Given the description of an element on the screen output the (x, y) to click on. 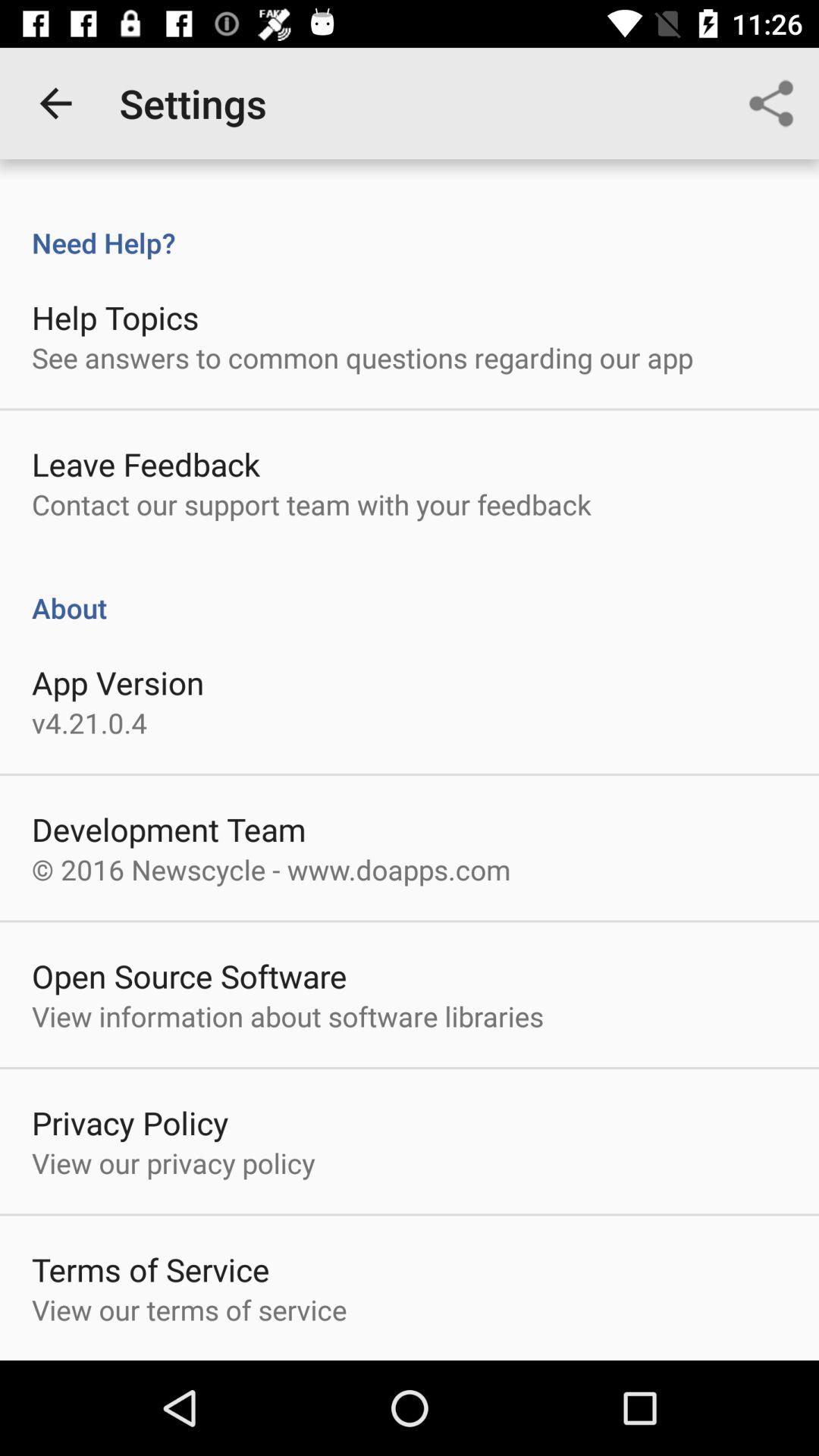
press icon above need help? icon (771, 103)
